Given the description of an element on the screen output the (x, y) to click on. 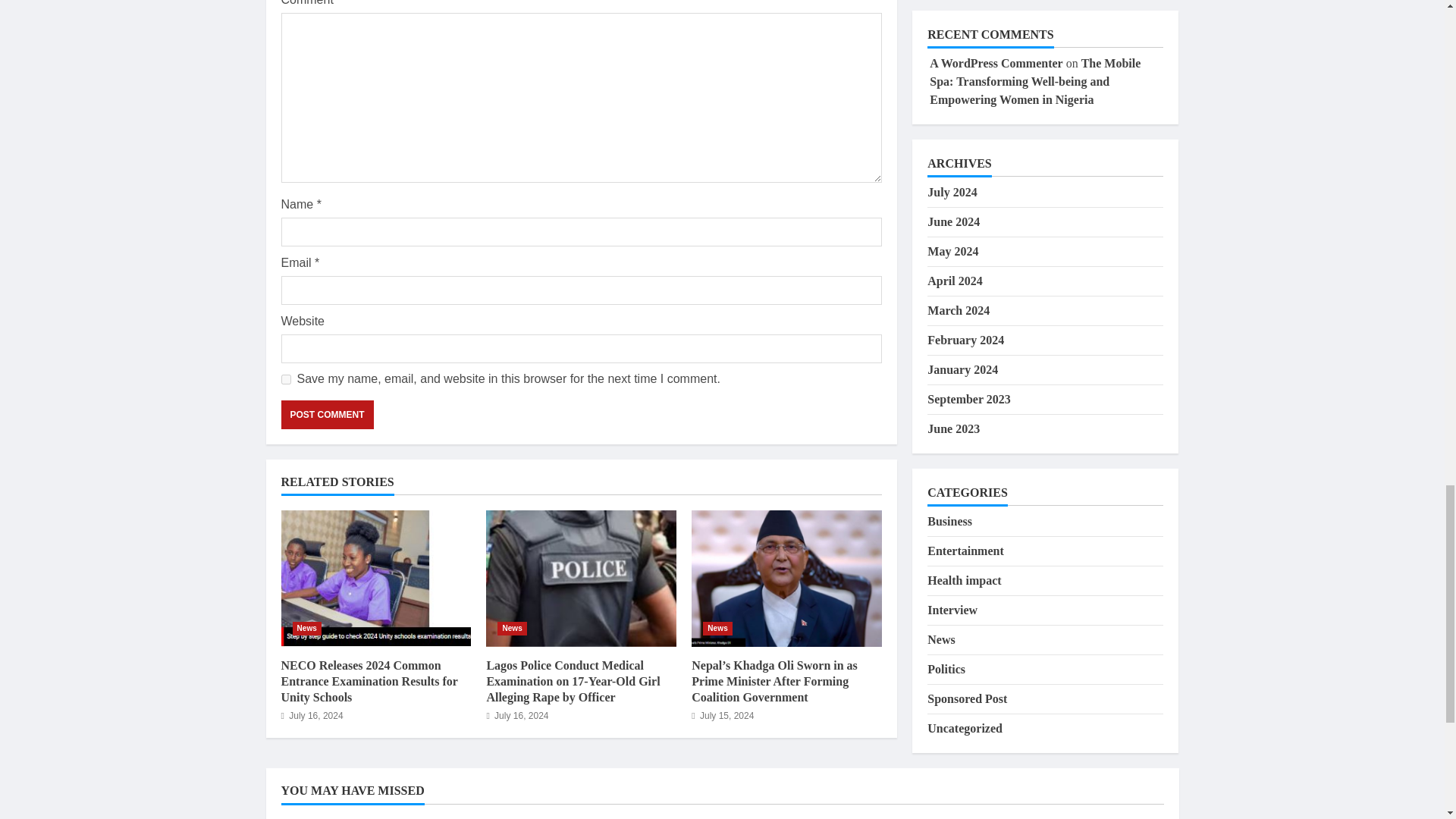
Post Comment (326, 414)
Post Comment (326, 414)
yes (285, 379)
News (306, 628)
News (512, 628)
News (717, 628)
